Given the description of an element on the screen output the (x, y) to click on. 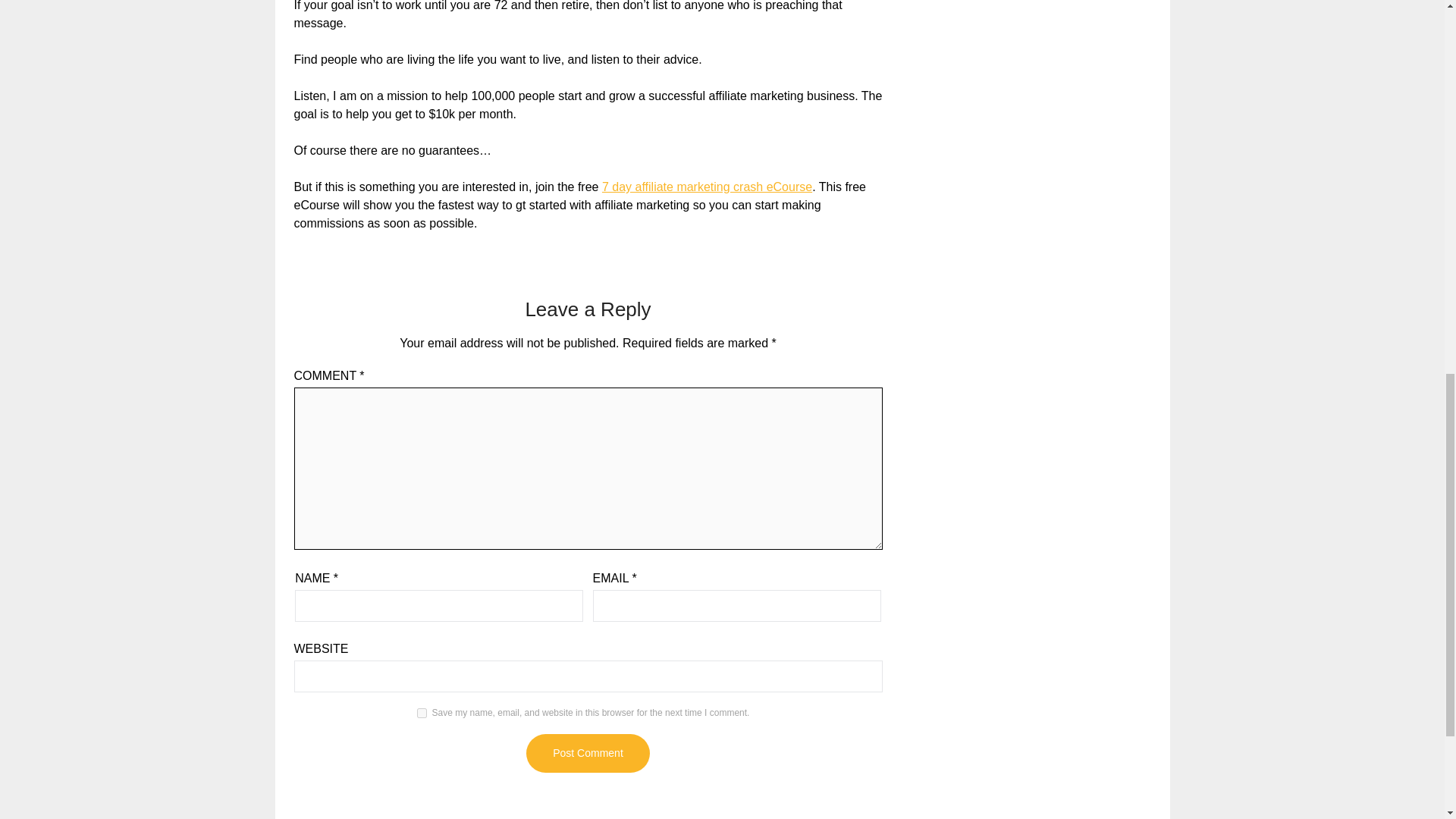
yes (421, 713)
Post Comment (587, 753)
7 day affiliate marketing crash eCourse (707, 186)
Post Comment (587, 753)
